Given the description of an element on the screen output the (x, y) to click on. 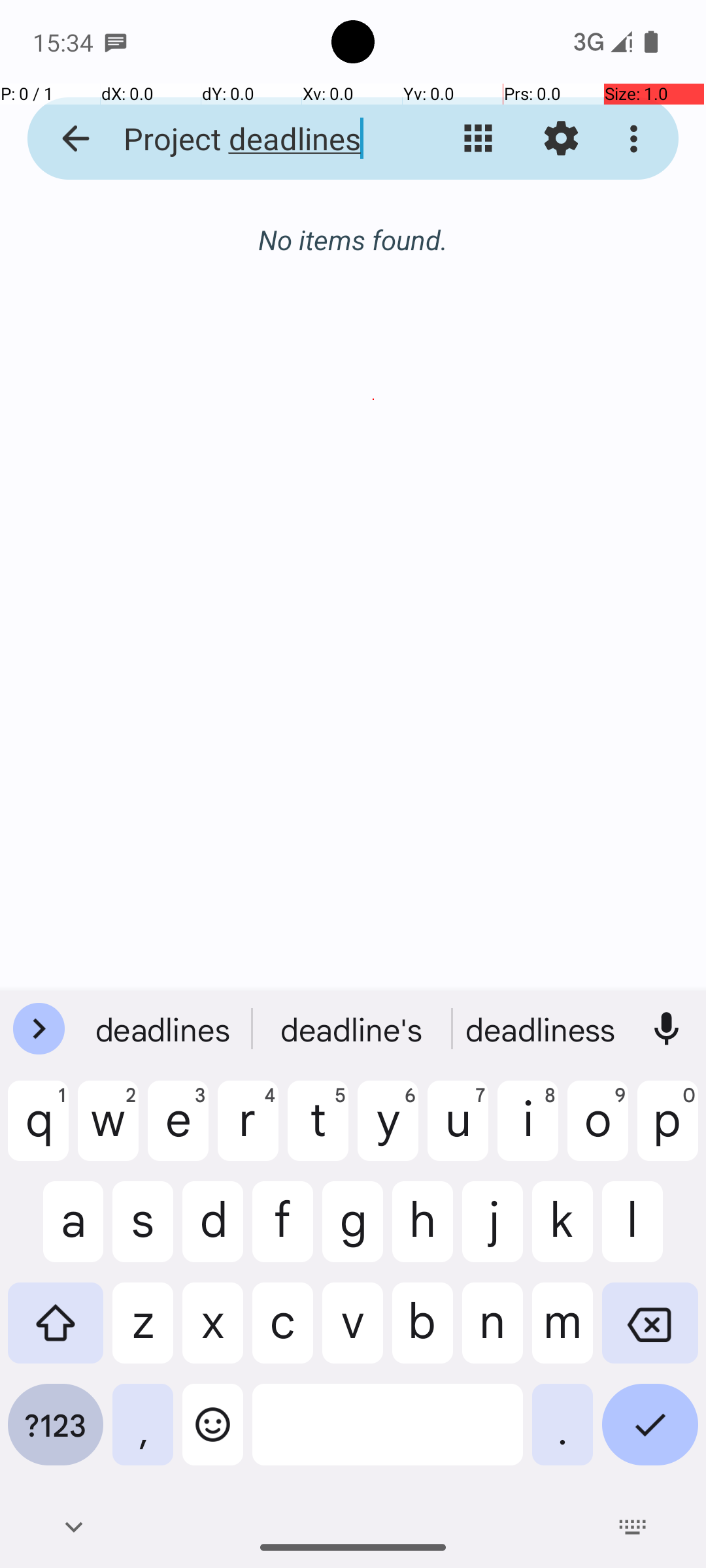
Project deadlines Element type: android.widget.EditText (252, 138)
15 Sunday Element type: android.widget.TextView (366, 227)
16 Monday Element type: android.widget.TextView (366, 749)
Review session for Annual Report Element type: android.widget.TextView (373, 269)
04:20 - 05:20 Element type: android.widget.TextView (137, 309)
We will celebrate client feedback. Element type: android.widget.TextView (373, 345)
Call with HR Element type: android.widget.TextView (373, 399)
09:30 - 10:15 Element type: android.widget.TextView (137, 439)
We will review business objectives. Snacks will be provided. Element type: android.widget.TextView (373, 474)
Quarterly review Element type: android.widget.TextView (373, 528)
16:15 - 18:45 Element type: android.widget.TextView (137, 568)
Meeting with Marketing Element type: android.widget.TextView (373, 622)
20:37 - 21:37 Element type: android.widget.TextView (137, 662)
We will prepare for marketing strategies. Element type: android.widget.TextView (373, 698)
11:24 - 11:54 Element type: android.widget.TextView (137, 832)
We will understand annual budget. Element type: android.widget.TextView (373, 867)
Appointment for Annual Report Element type: android.widget.TextView (373, 921)
16:01 - 16:31 Element type: android.widget.TextView (137, 962)
We will prepare for software updates. Element type: android.widget.TextView (373, 985)
deadline Element type: android.widget.FrameLayout (163, 1028)
deadlines Element type: android.widget.FrameLayout (352, 1028)
deadliness Element type: android.widget.FrameLayout (541, 1028)
